Given the description of an element on the screen output the (x, y) to click on. 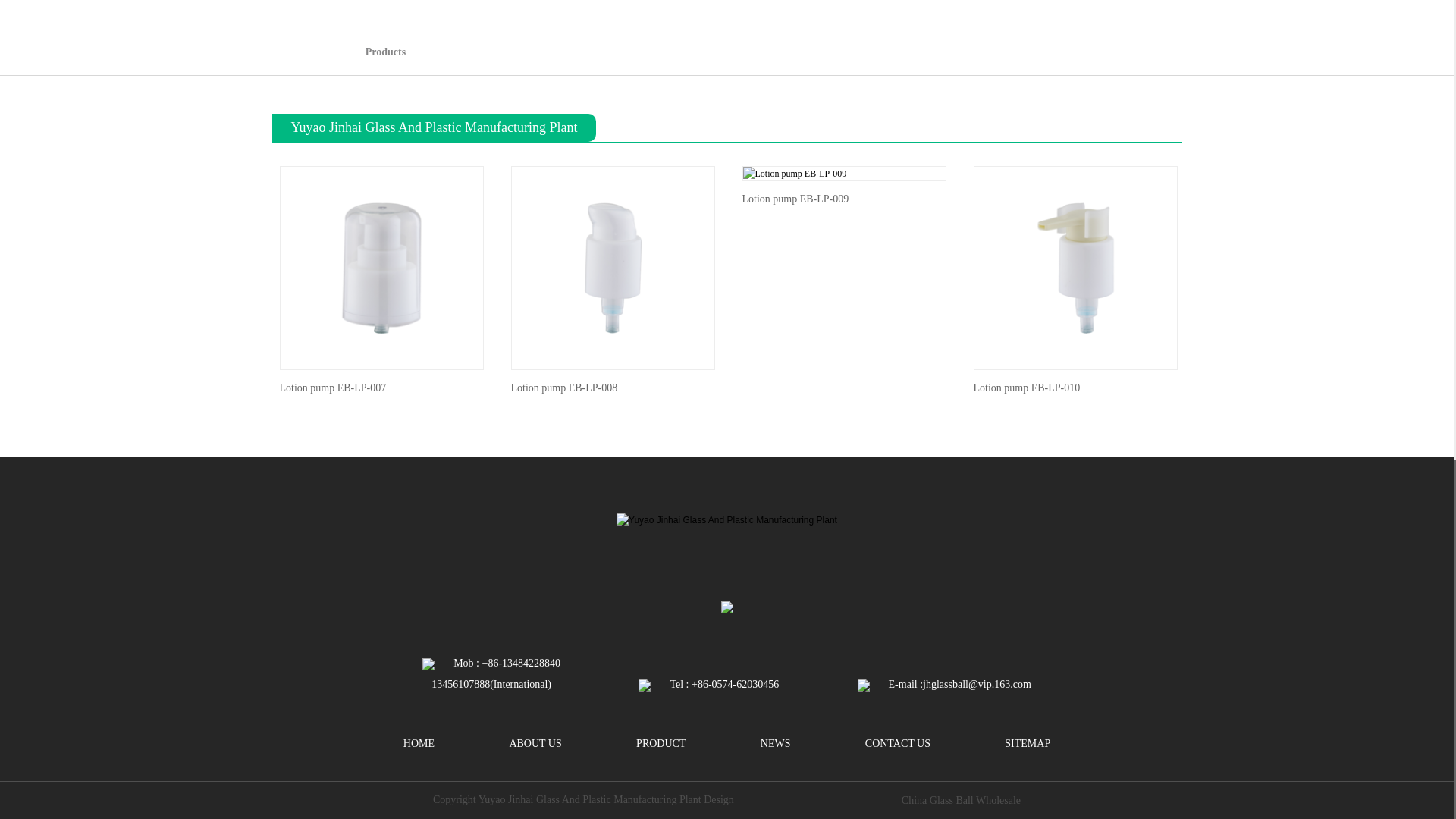
Lotion pump EB-LP-007 (382, 268)
Lotion pump EB-LP-010 (1075, 268)
Lotion pump EB-LP-009 (794, 173)
Lotion pump EB-LP-008 (612, 268)
Yuyao Jinhai Glass And Plastic Manufacturing Plant (726, 520)
